Given the description of an element on the screen output the (x, y) to click on. 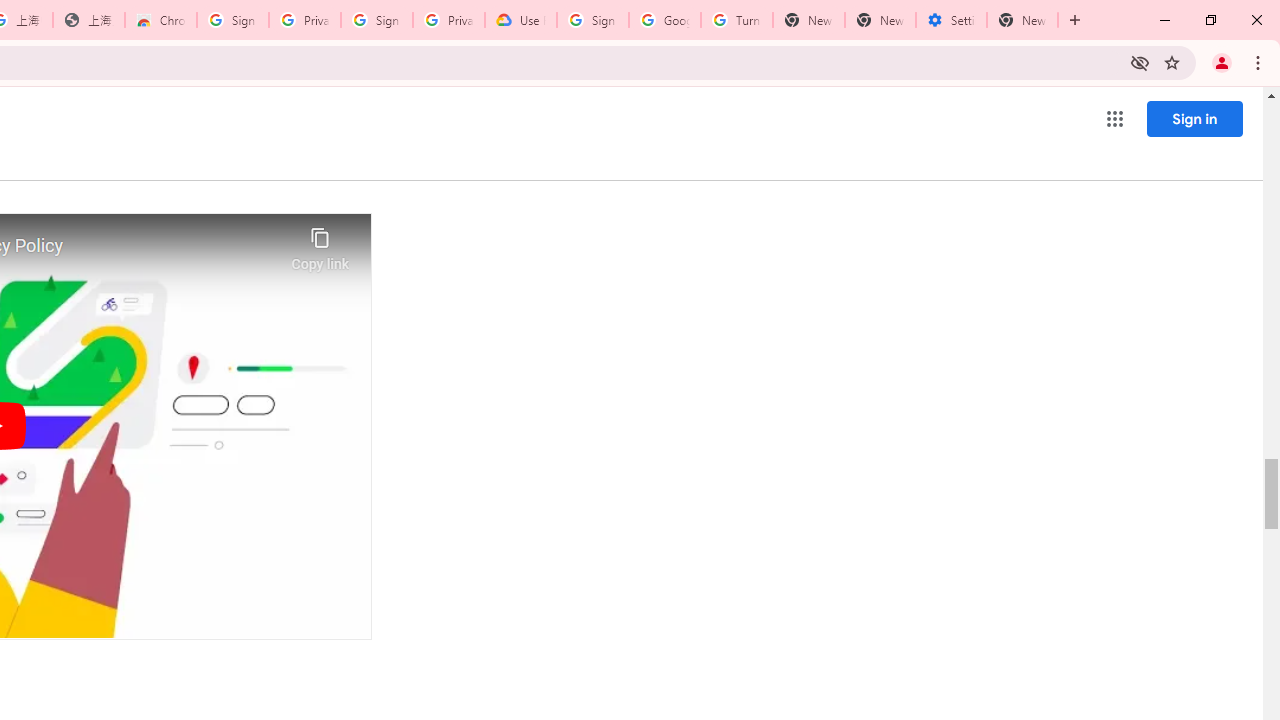
Sign in - Google Accounts (232, 20)
New Tab (1022, 20)
Google Account Help (664, 20)
Copy link (319, 244)
